Given the description of an element on the screen output the (x, y) to click on. 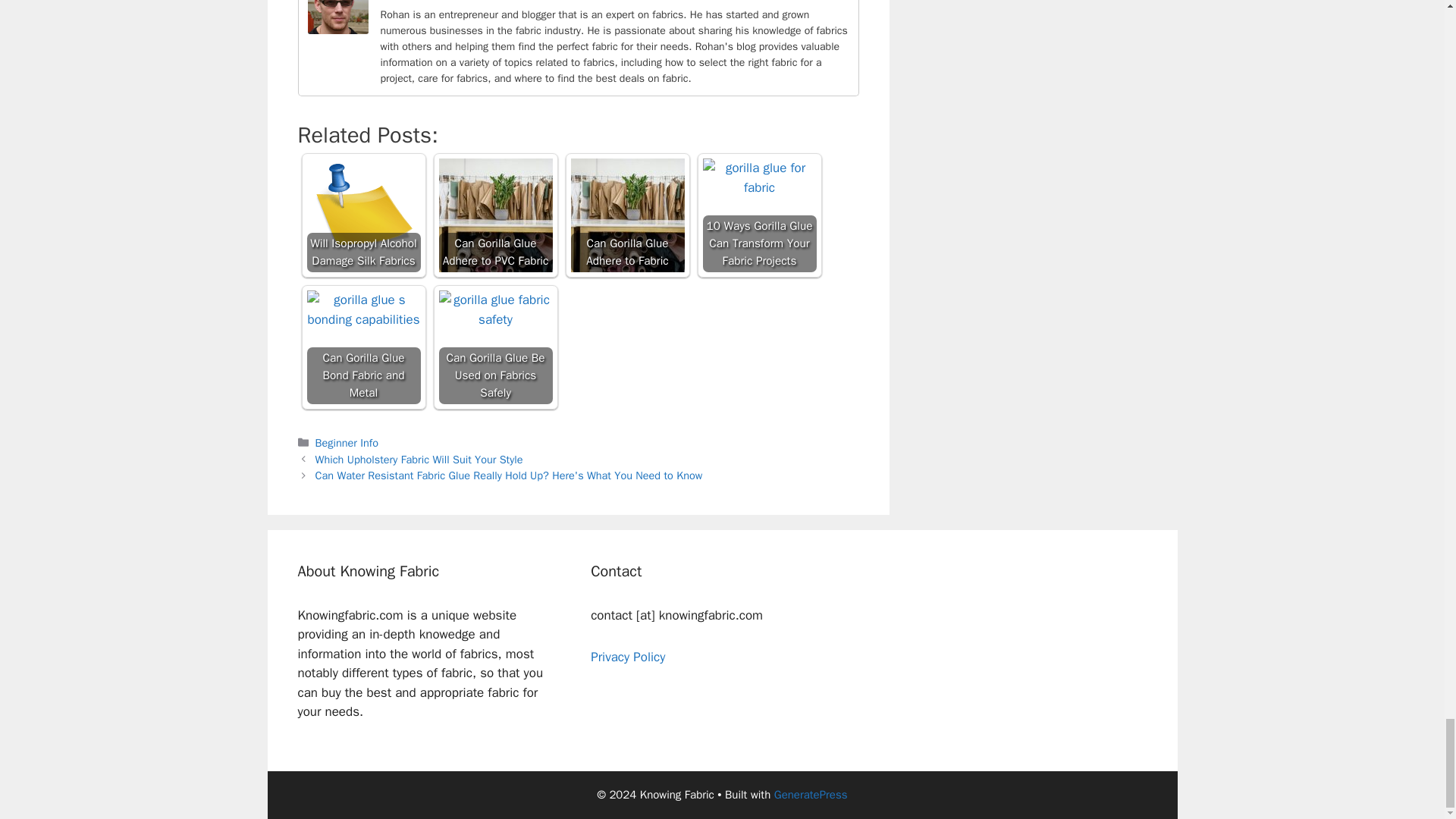
Will Isopropyl Alcohol Damage Silk Fabrics (362, 214)
Can Gorilla Glue Bond Fabric and Metal (362, 309)
GeneratePress (810, 794)
Which Upholstery Fabric Will Suit Your Style (418, 459)
10 Ways Gorilla Glue Can Transform Your Fabric Projects (758, 177)
Privacy Policy (628, 657)
Can Gorilla Glue Bond Fabric and Metal (362, 347)
Beginner Info (346, 442)
Can Gorilla Glue Be Used on Fabrics Safely (494, 347)
Will Isopropyl Alcohol Damage Silk Fabrics (362, 214)
Can Gorilla Glue Adhere to PVC Fabric (494, 214)
Rohan (337, 29)
Knowing Fabric (529, 0)
Can Gorilla Glue Adhere to PVC Fabric (494, 214)
10 Ways Gorilla Glue Can Transform Your Fabric Projects (758, 214)
